Given the description of an element on the screen output the (x, y) to click on. 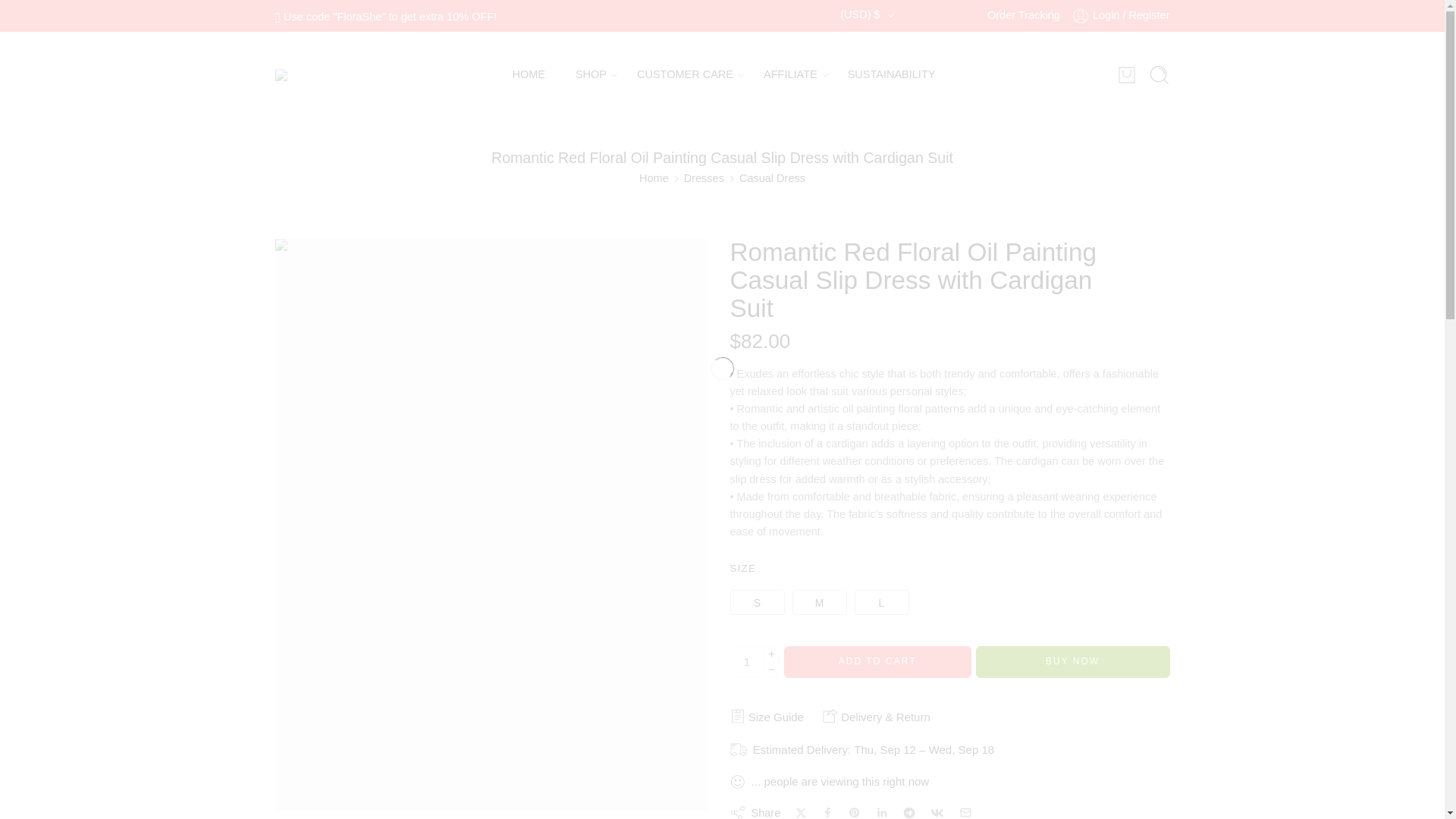
Casual Dress (772, 178)
CUSTOMER CARE (685, 74)
Home (653, 178)
Order Tracking (1023, 15)
SUSTAINABILITY (891, 74)
Order Tracking (1023, 15)
CUSTOMER CARE (685, 74)
SUSTAINABILITY (891, 74)
Dresses (703, 178)
Dresses (703, 178)
